Given the description of an element on the screen output the (x, y) to click on. 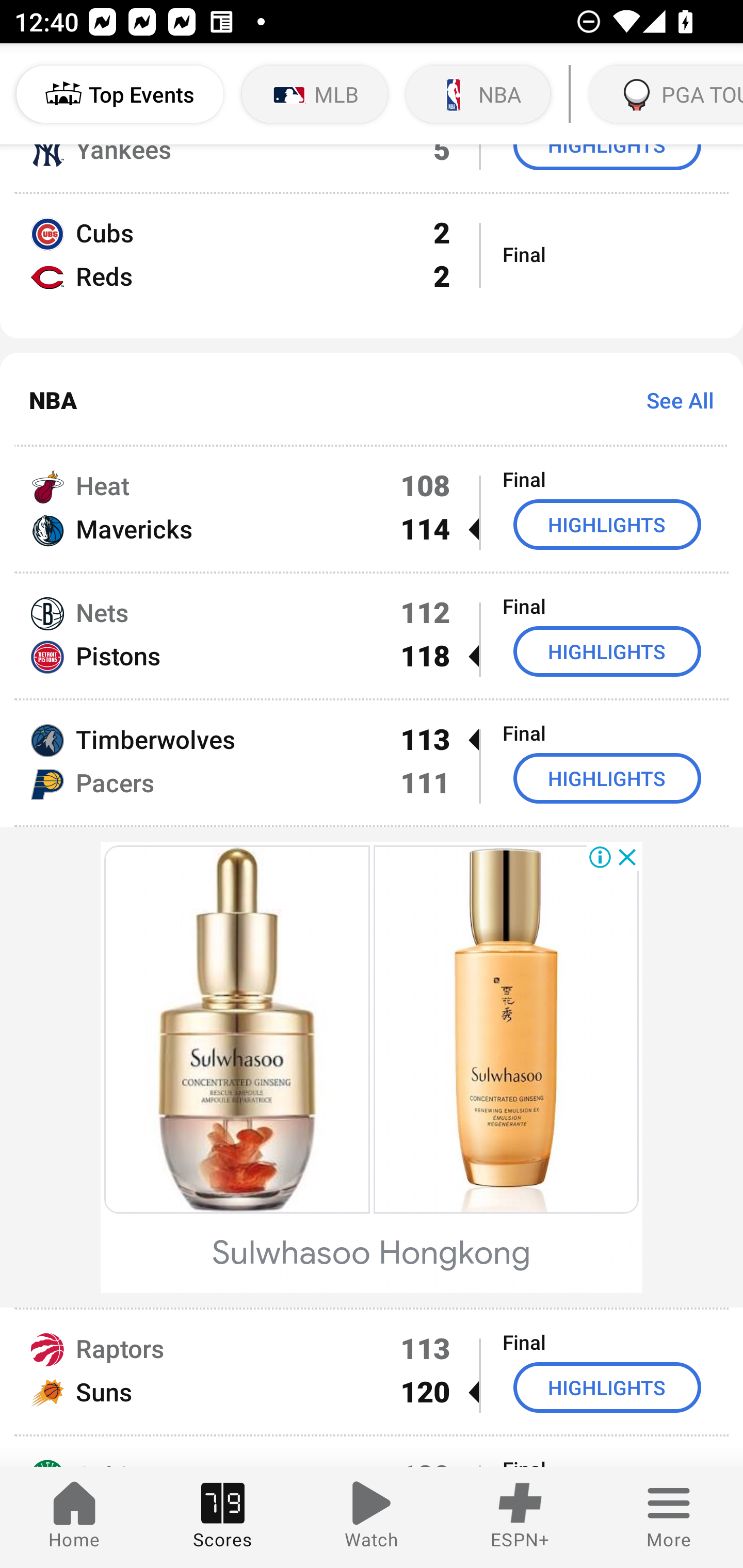
 Top Events (119, 93)
MLB (314, 93)
NBA (477, 93)
PGA TOUR (664, 93)
Cubs 2 Reds 2 Final (371, 266)
NBA See All (371, 399)
See All (673, 399)
Heat 108 Final Mavericks 114  HIGHLIGHTS (371, 508)
HIGHLIGHTS (607, 524)
Nets 112 Final Pistons 118  HIGHLIGHTS (371, 635)
HIGHLIGHTS (607, 651)
Timberwolves 113  Final Pacers 111 HIGHLIGHTS (371, 762)
HIGHLIGHTS (607, 777)
Sulwhasoo Hongkong (371, 1253)
Raptors 113 Final Suns 120  HIGHLIGHTS (371, 1371)
HIGHLIGHTS (607, 1387)
Home (74, 1517)
Watch (371, 1517)
ESPN+ (519, 1517)
More (668, 1517)
